Given the description of an element on the screen output the (x, y) to click on. 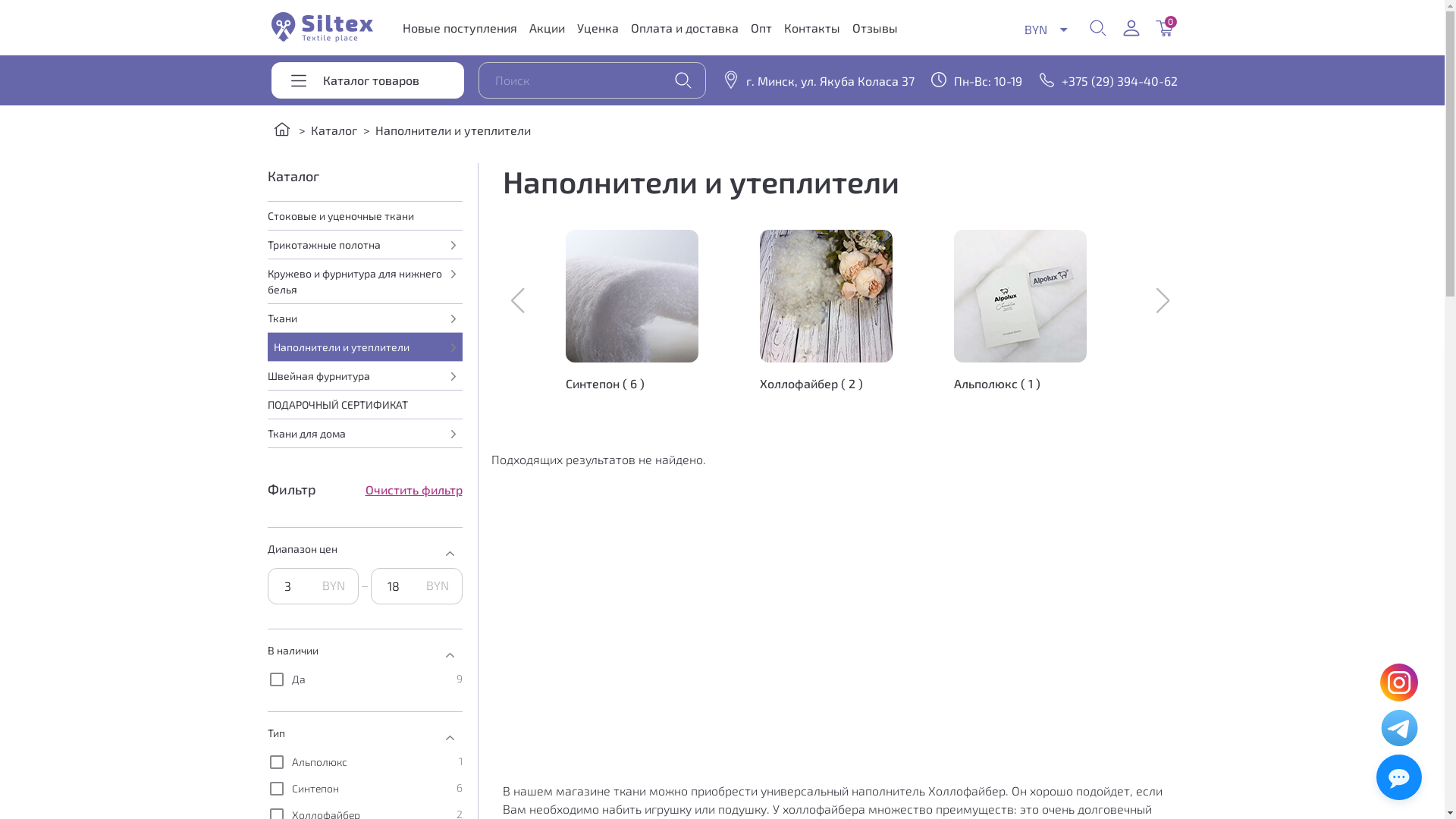
BYN Element type: text (1045, 28)
+375 (29) 394-40-62 Element type: text (1104, 81)
Siltex Element type: text (322, 27)
0 Element type: text (1164, 29)
